Given the description of an element on the screen output the (x, y) to click on. 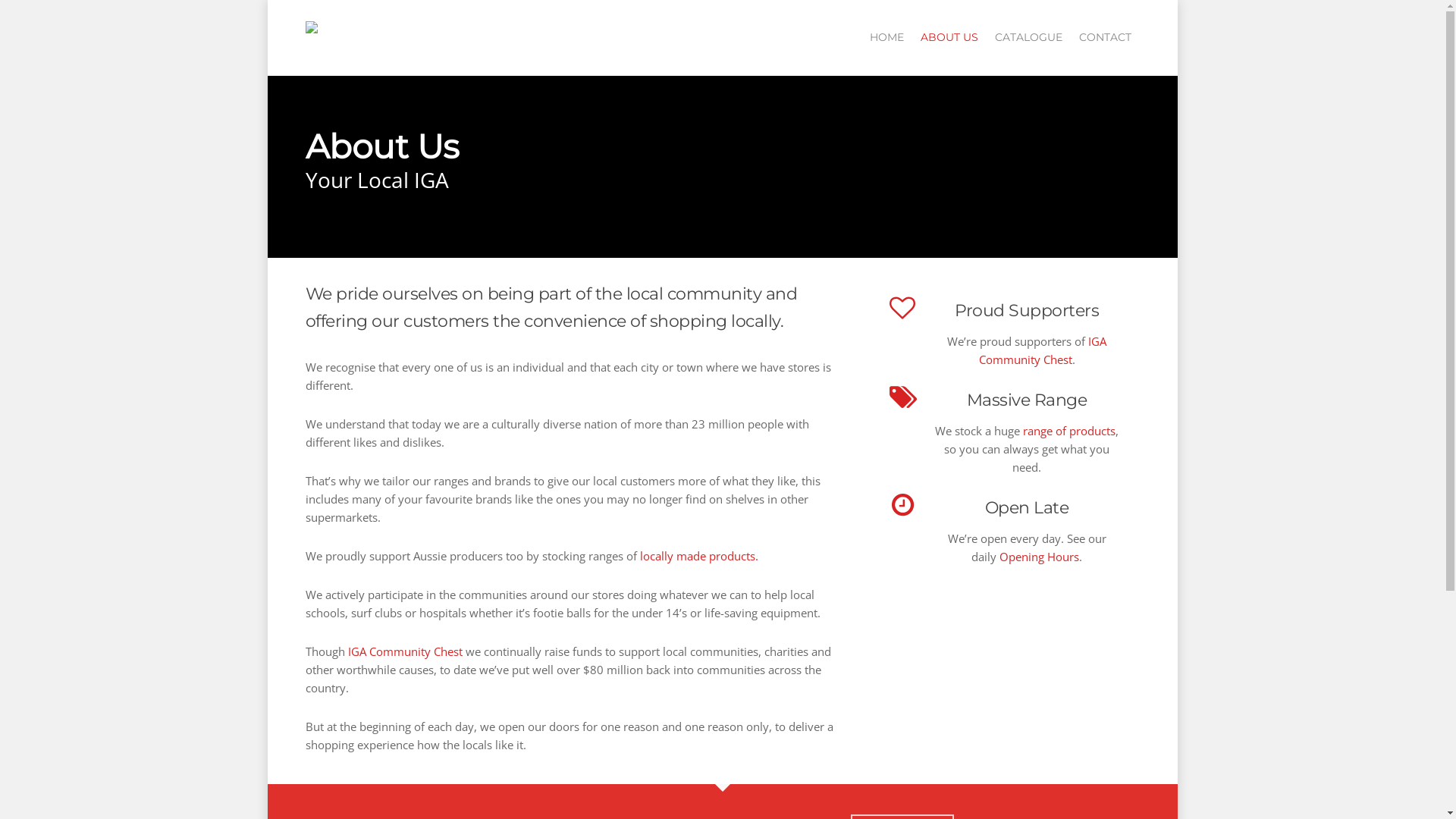
ABOUT US Element type: text (949, 48)
Opening Hours Element type: text (1039, 556)
range of products Element type: text (1068, 430)
IGA Community Chest Element type: text (1043, 350)
IGA Community Chest Element type: text (404, 650)
locally made products. Element type: text (699, 555)
CATALOGUE Element type: text (1028, 48)
HOME Element type: text (885, 48)
CONTACT Element type: text (1104, 48)
